Given the description of an element on the screen output the (x, y) to click on. 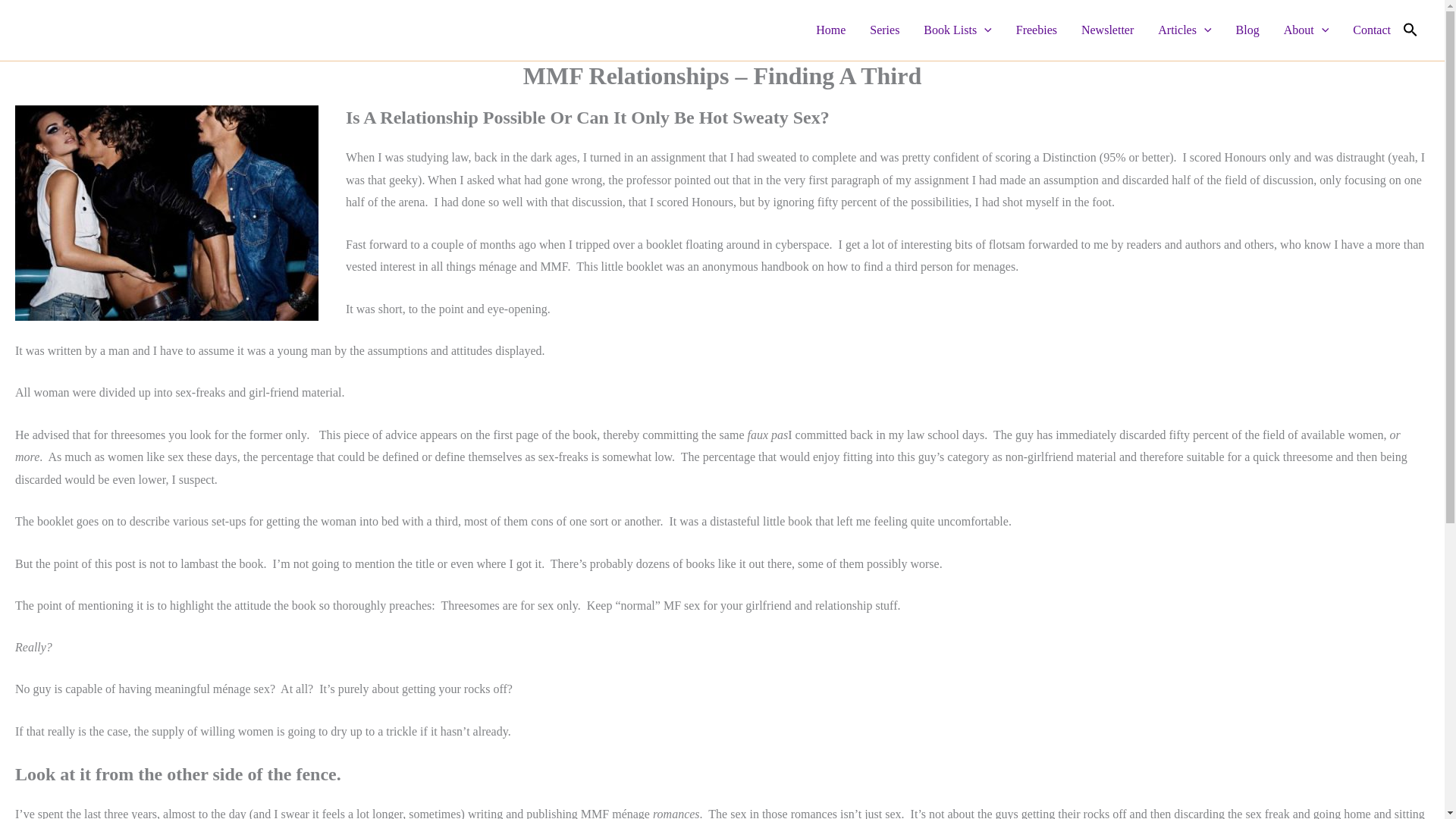
About (1305, 30)
Articles (1184, 30)
Blog (1247, 30)
Home (830, 30)
Contact (1371, 30)
Book Lists (957, 30)
Series (884, 30)
Newsletter (1106, 30)
Freebies (1036, 30)
